Given the description of an element on the screen output the (x, y) to click on. 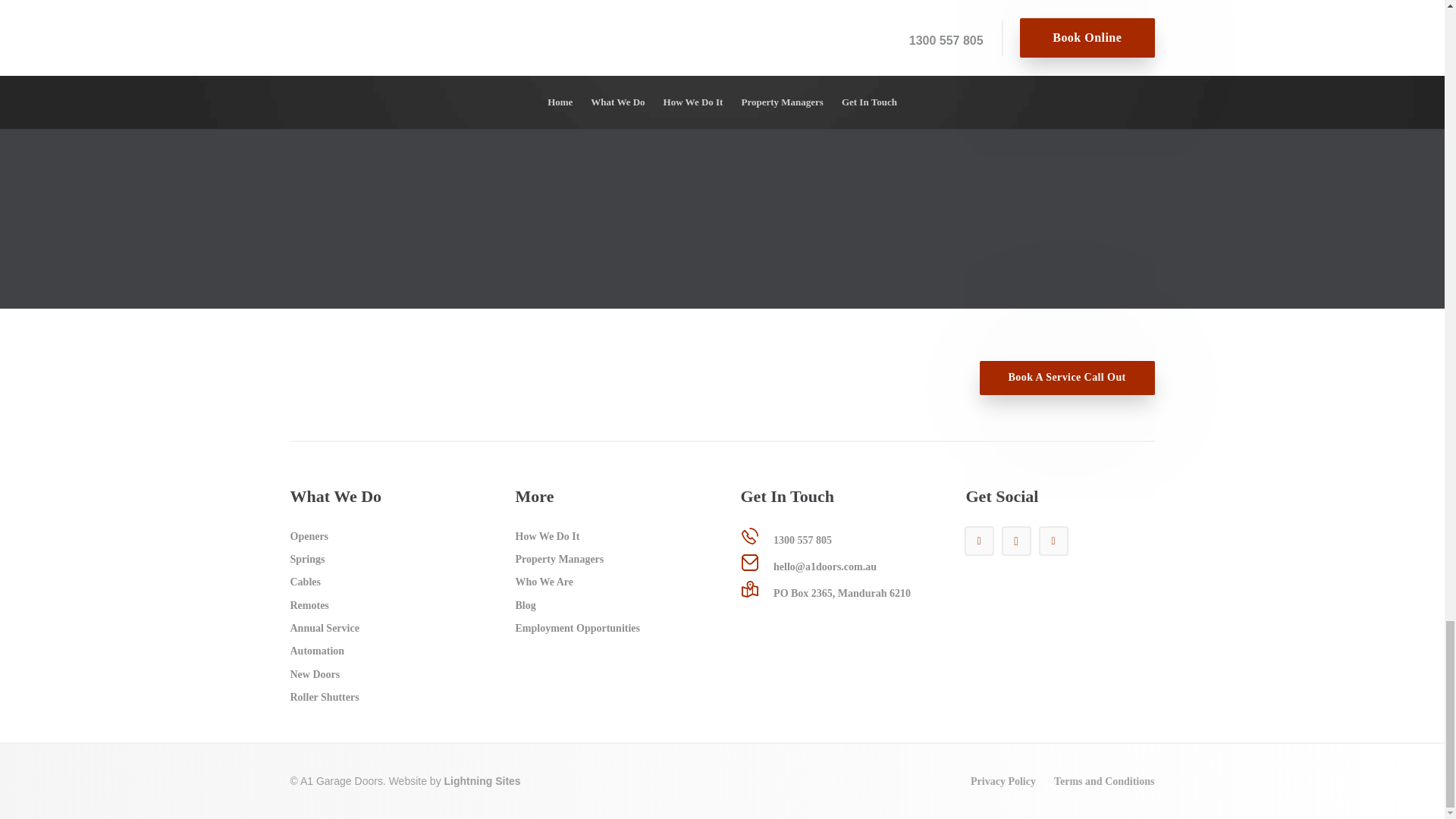
Facebook (1054, 540)
Instagram (1016, 540)
YouTube (979, 540)
Book Online (356, 4)
